Given the description of an element on the screen output the (x, y) to click on. 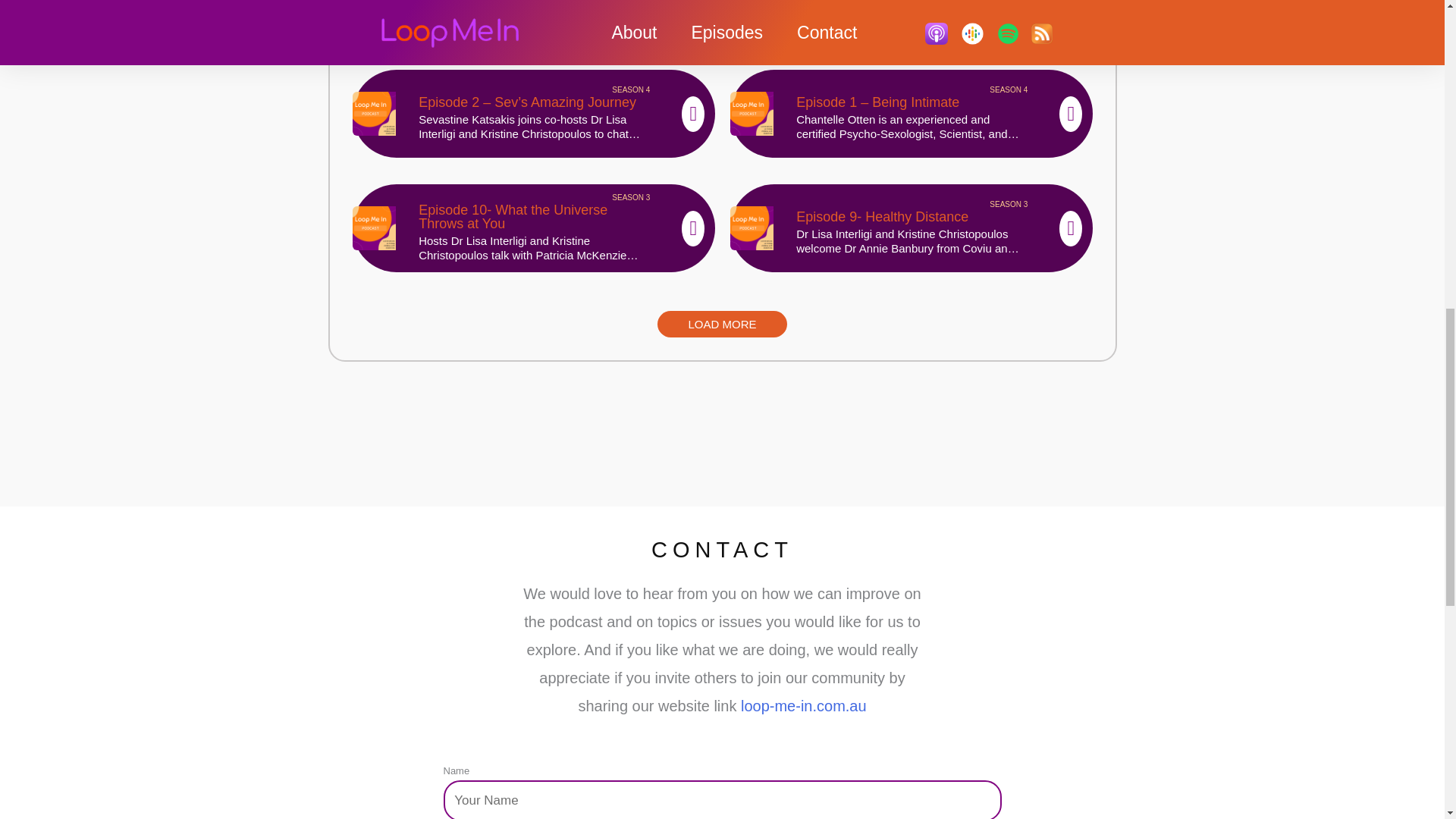
LOAD MORE (722, 324)
loop-me-in.com.au (803, 705)
